Given the description of an element on the screen output the (x, y) to click on. 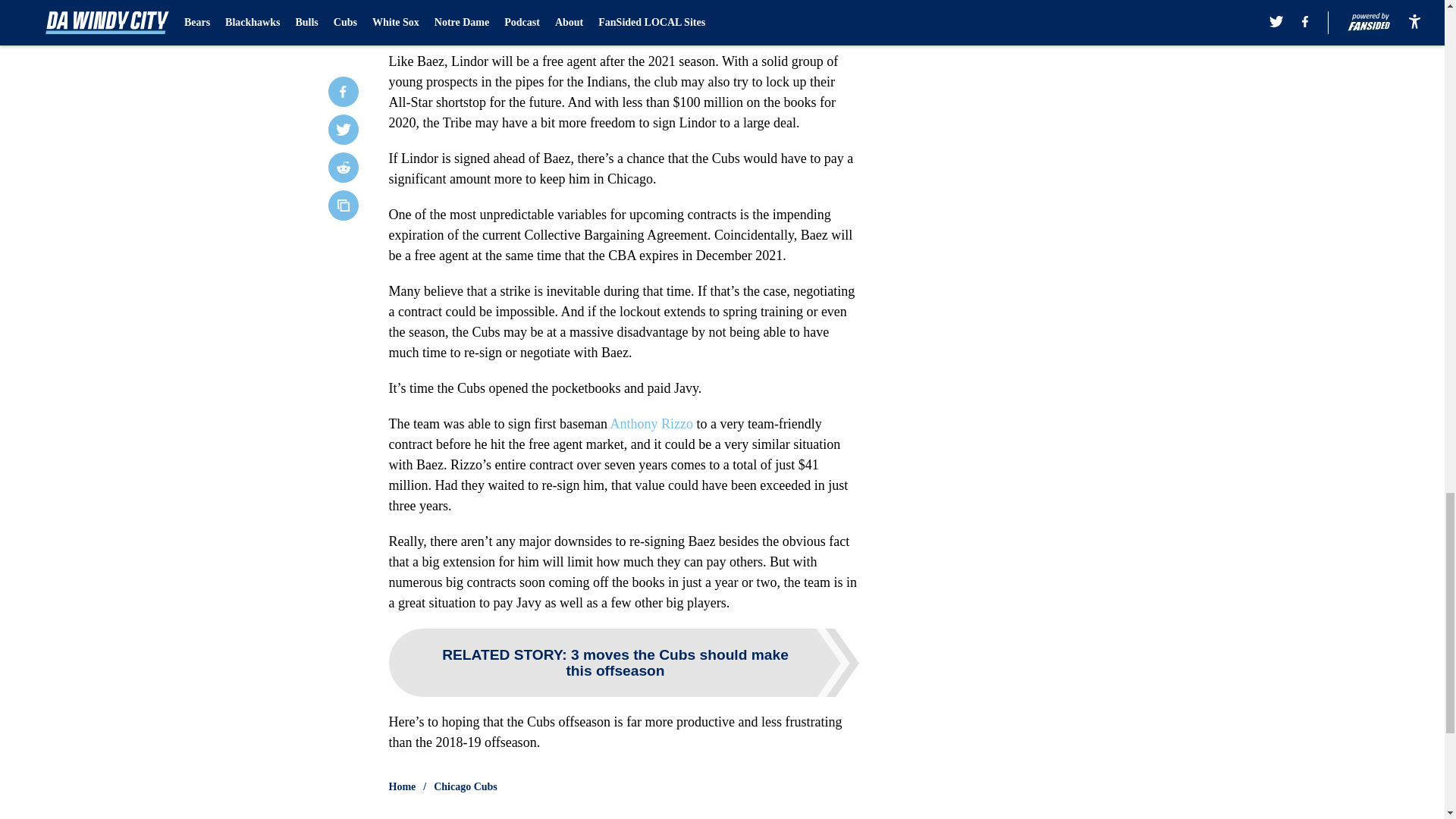
Anthony Rizzo (651, 423)
Francisco Lindor (488, 6)
Home (401, 786)
RELATED STORY: 3 moves the Cubs should make this offseason (623, 662)
Chicago Cubs (465, 786)
